Given the description of an element on the screen output the (x, y) to click on. 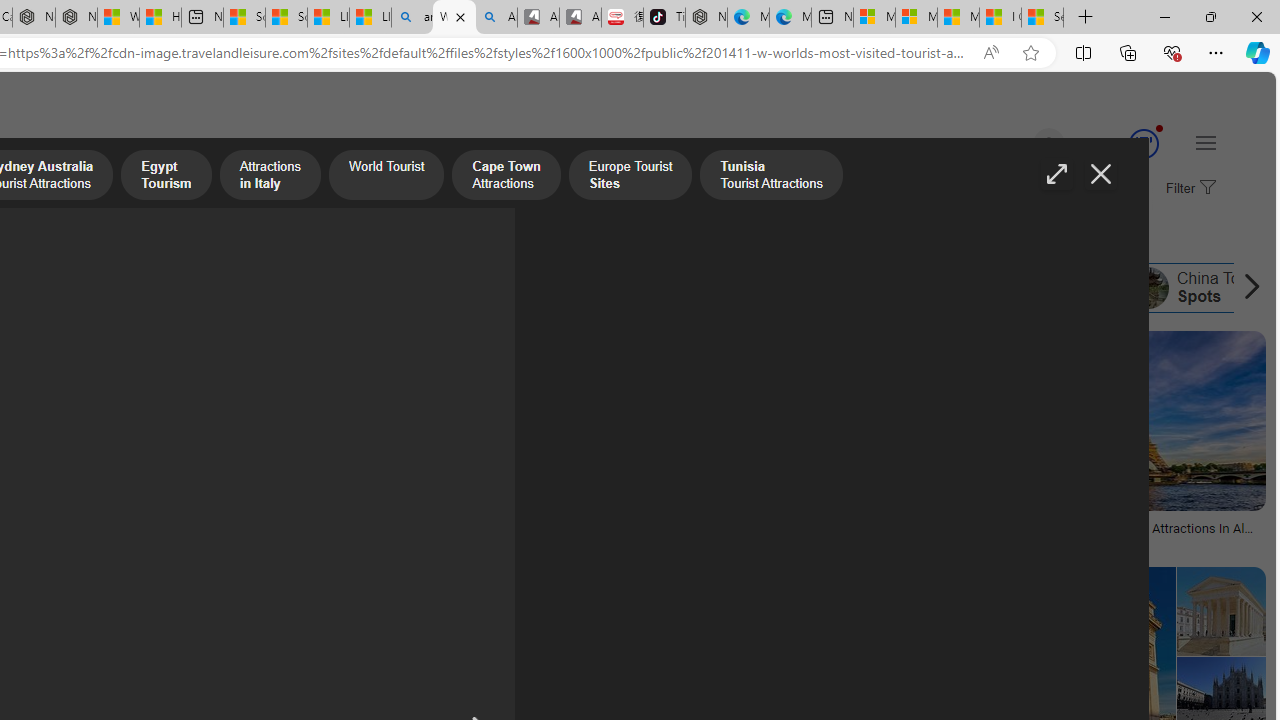
Full screen (1055, 173)
France Best Places (918, 287)
Top 10 Tourist Attractions in the World (656, 287)
Attractions in Italy (269, 177)
Huge shark washes ashore at New York City beach | Watch (159, 17)
